Given the description of an element on the screen output the (x, y) to click on. 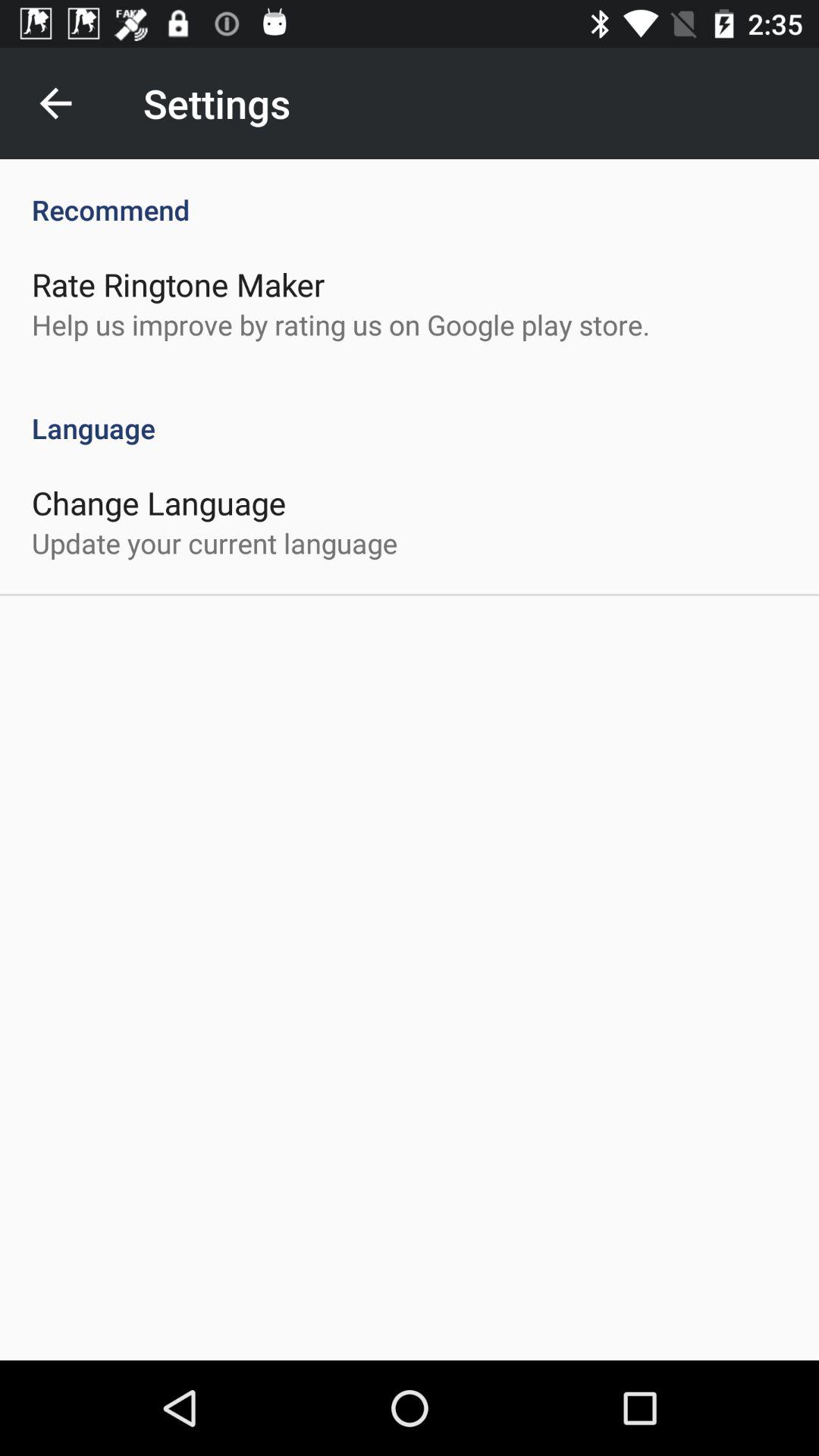
launch the item above the language (340, 324)
